Given the description of an element on the screen output the (x, y) to click on. 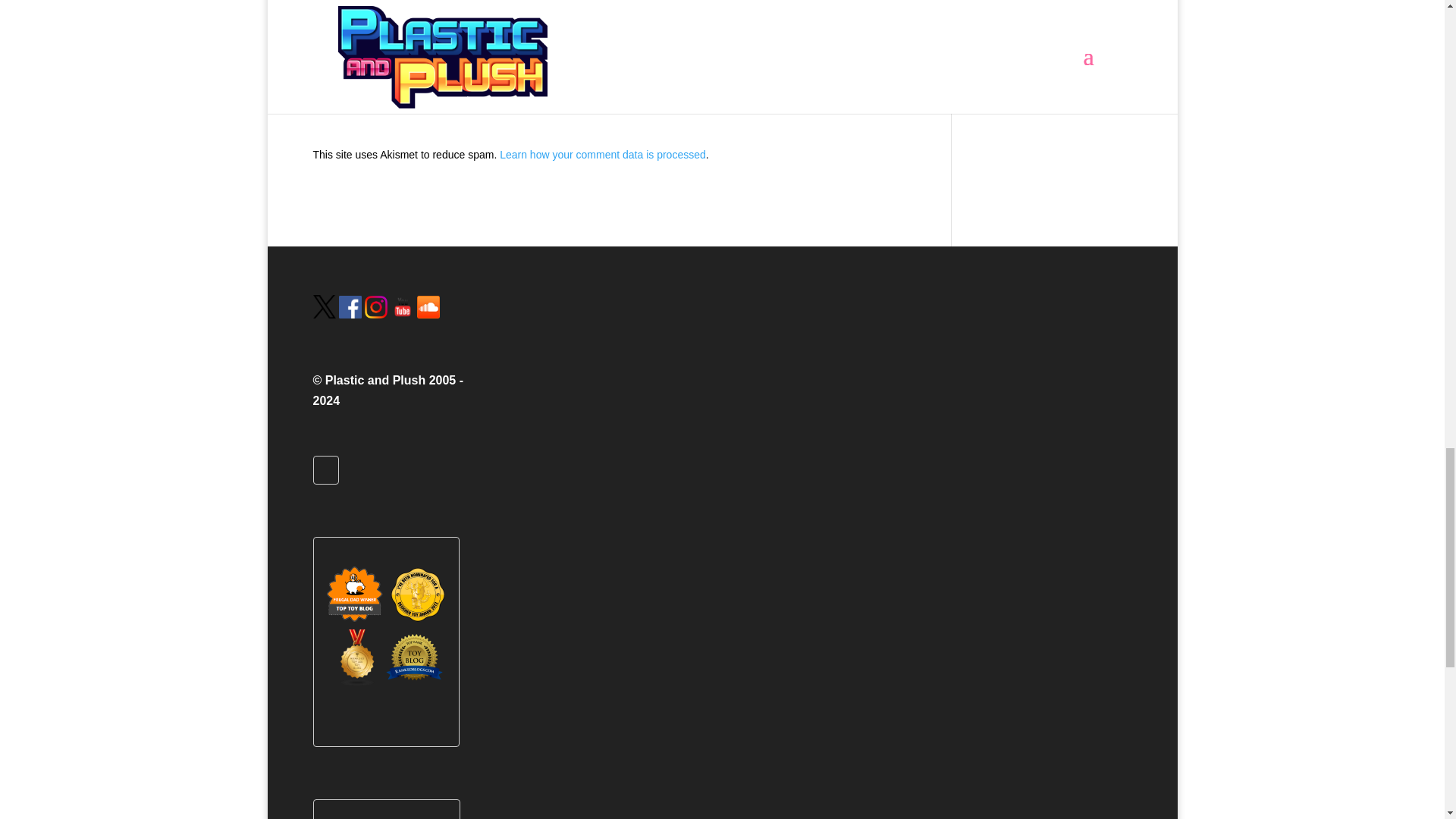
Preview (882, 62)
Submit Comment (780, 60)
Submit Comment (780, 60)
Toy Blogs (357, 683)
Learn how your comment data is processed (602, 154)
